Given the description of an element on the screen output the (x, y) to click on. 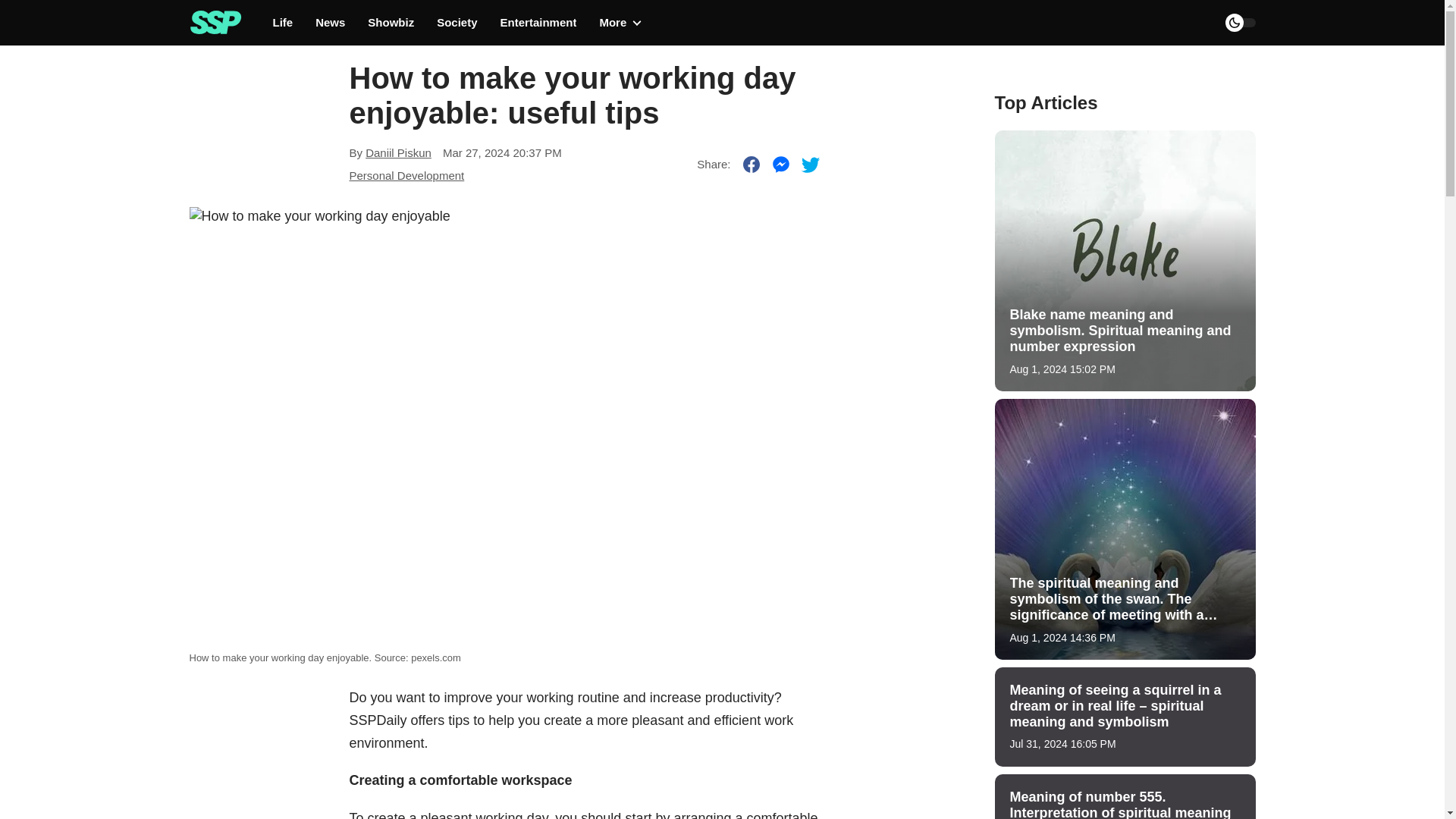
News (330, 22)
Showbiz (390, 22)
Society (456, 22)
Life (283, 22)
Daniil Piskun (397, 152)
Personal Development (406, 174)
Entertainment (538, 22)
